Given the description of an element on the screen output the (x, y) to click on. 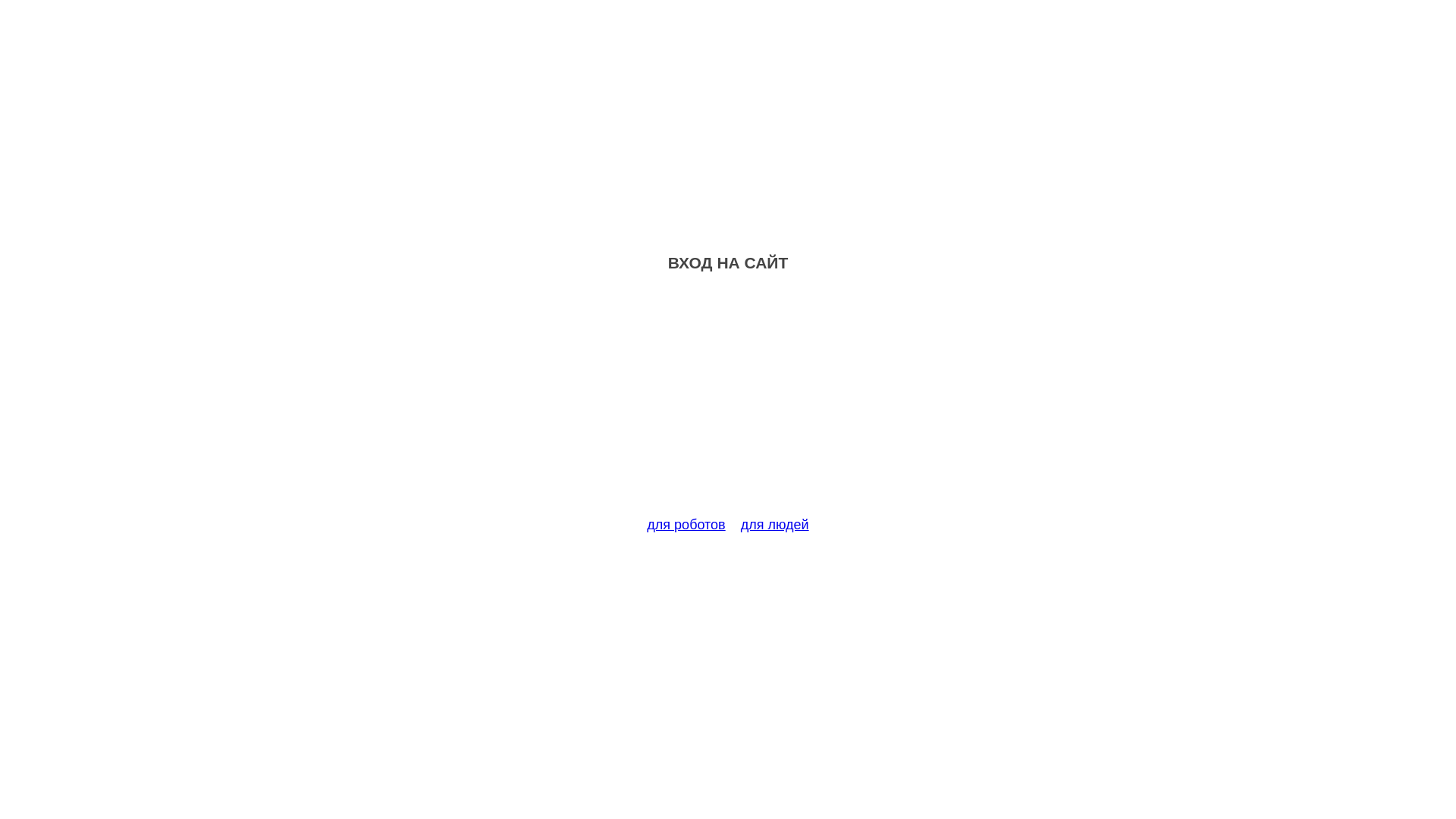
Advertisement Element type: hover (727, 403)
